Given the description of an element on the screen output the (x, y) to click on. 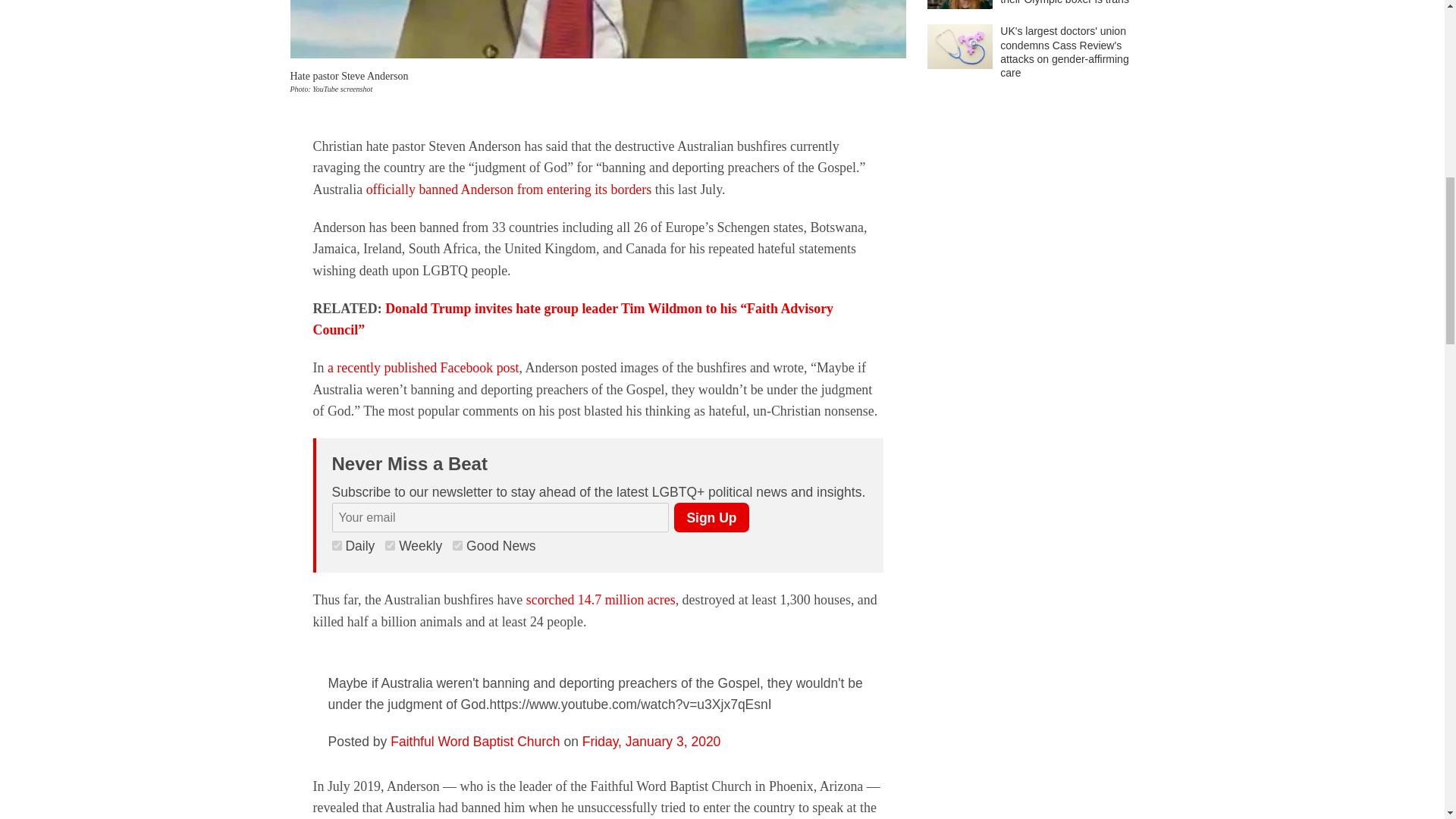
Friday, January 3, 2020 (651, 741)
Sign Up (711, 517)
1920883 (457, 545)
officially banned Anderson from entering its borders (509, 189)
steve-anderson-hate-pastor (597, 29)
Faithful Word Baptist Church (474, 741)
1920885 (336, 545)
a recently published Facebook post (423, 367)
1920884 (389, 545)
scorched 14.7 million acres (600, 599)
